Given the description of an element on the screen output the (x, y) to click on. 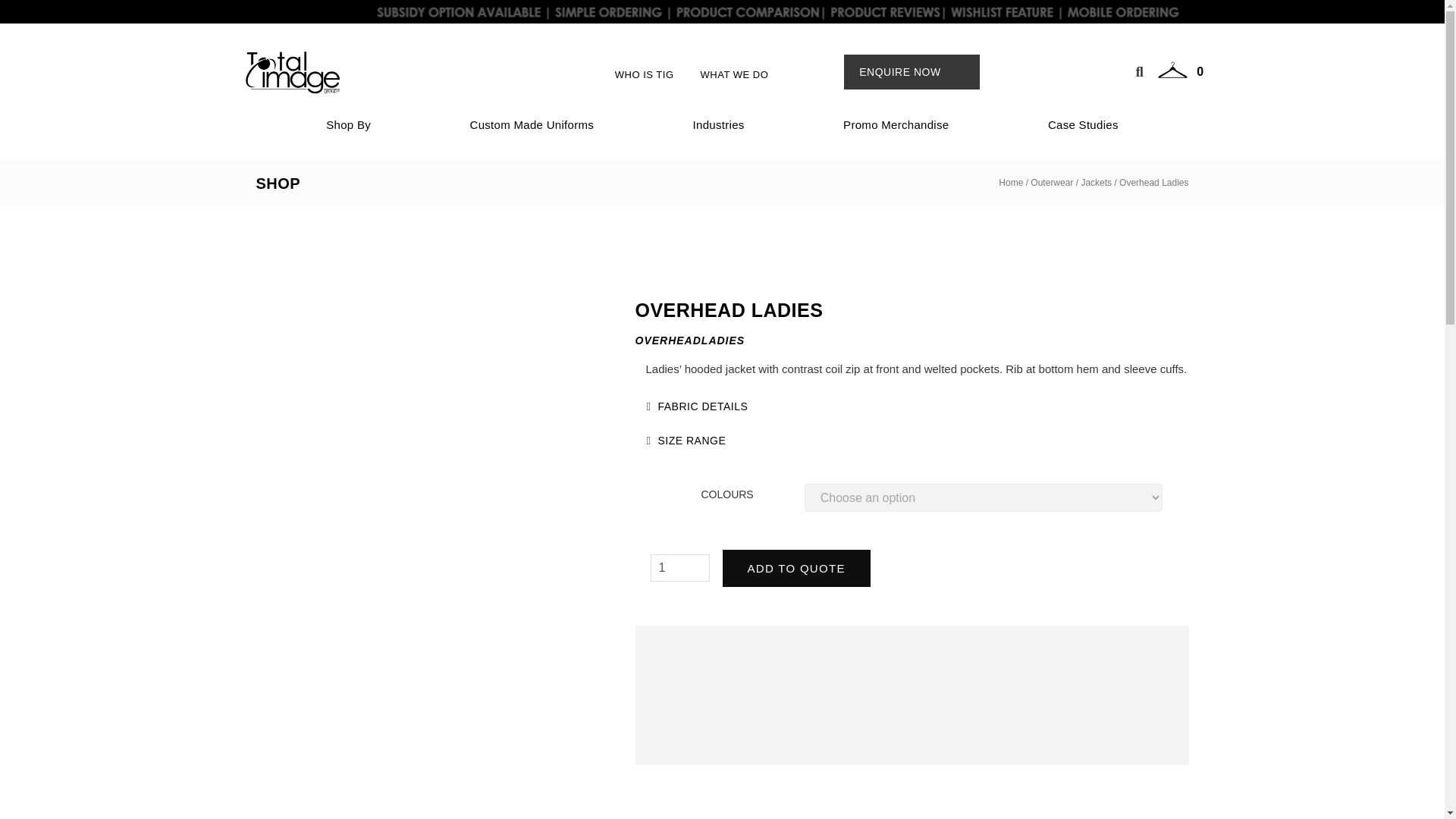
1 (680, 567)
WHO IS TIG (644, 74)
WHAT WE DO (734, 74)
